Given the description of an element on the screen output the (x, y) to click on. 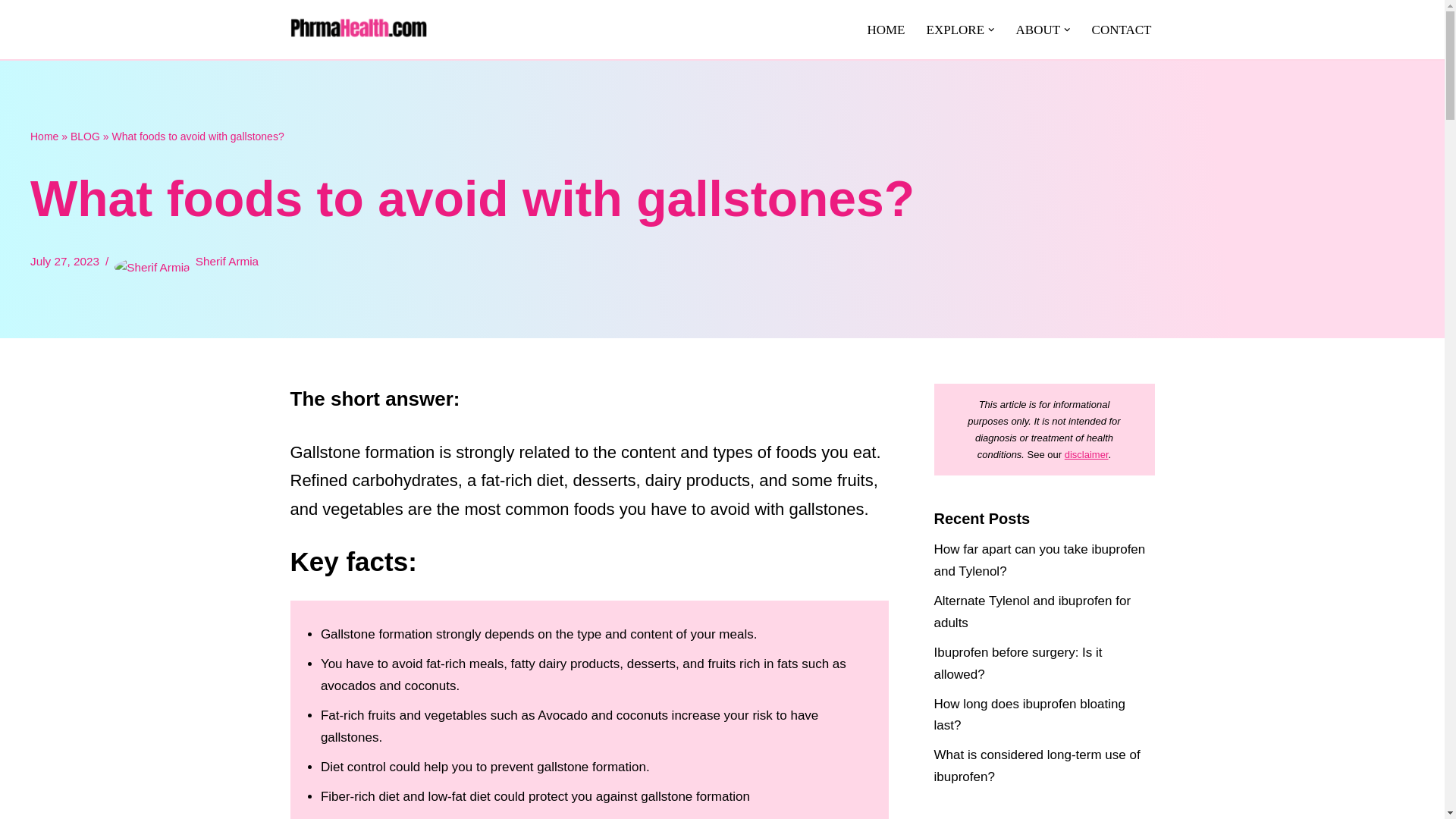
ABOUT (1038, 29)
CONTACT (1121, 29)
Sherif Armia (227, 260)
EXPLORE (955, 29)
Home (44, 136)
HOME (885, 29)
Skip to content (11, 31)
BLOG (84, 136)
Posts by Sherif Armia (227, 260)
